Given the description of an element on the screen output the (x, y) to click on. 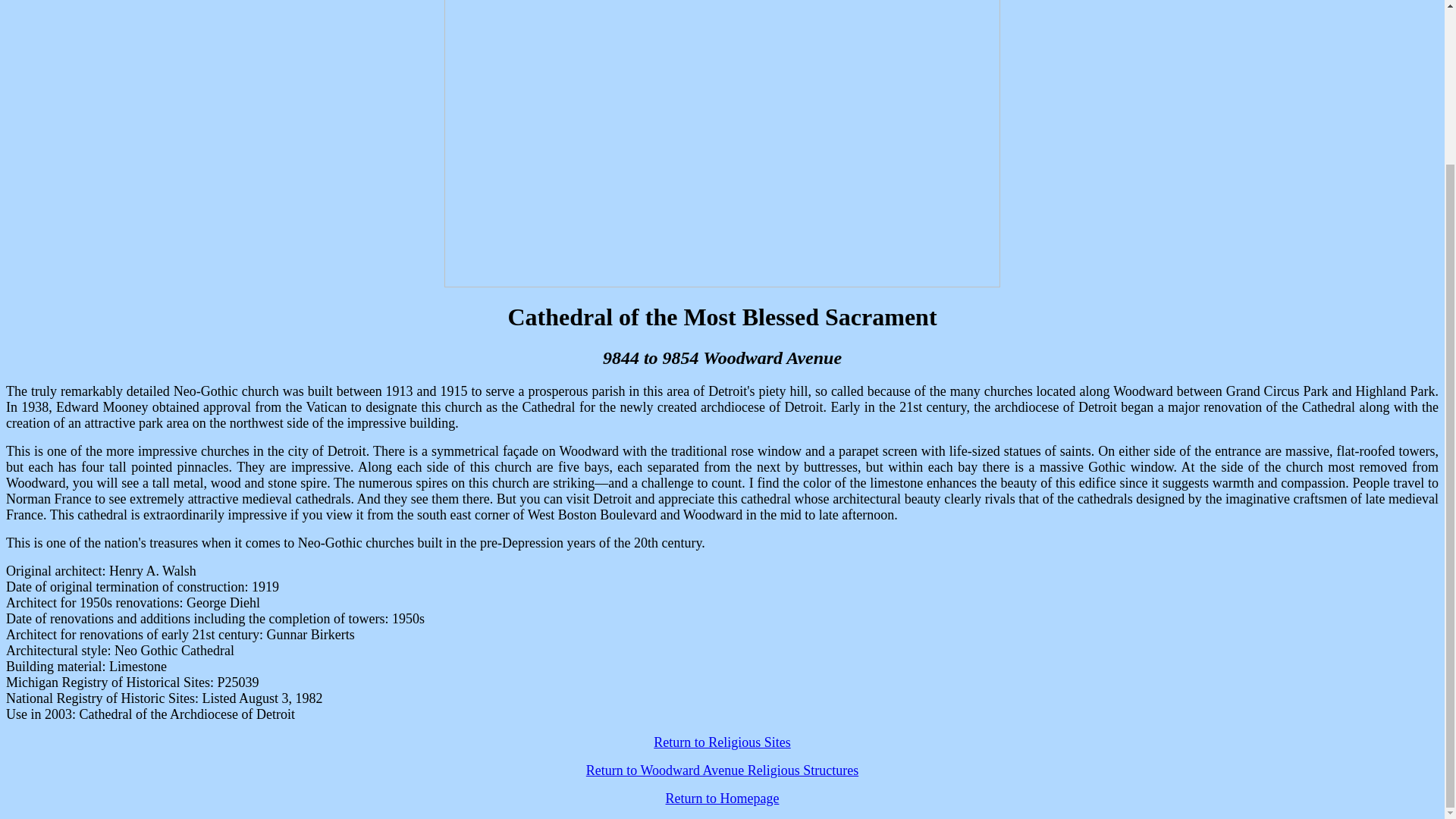
Return to Woodward Avenue Religious Structures (722, 770)
Return to Religious Sites (721, 742)
Return to Homepage (721, 798)
